Given the description of an element on the screen output the (x, y) to click on. 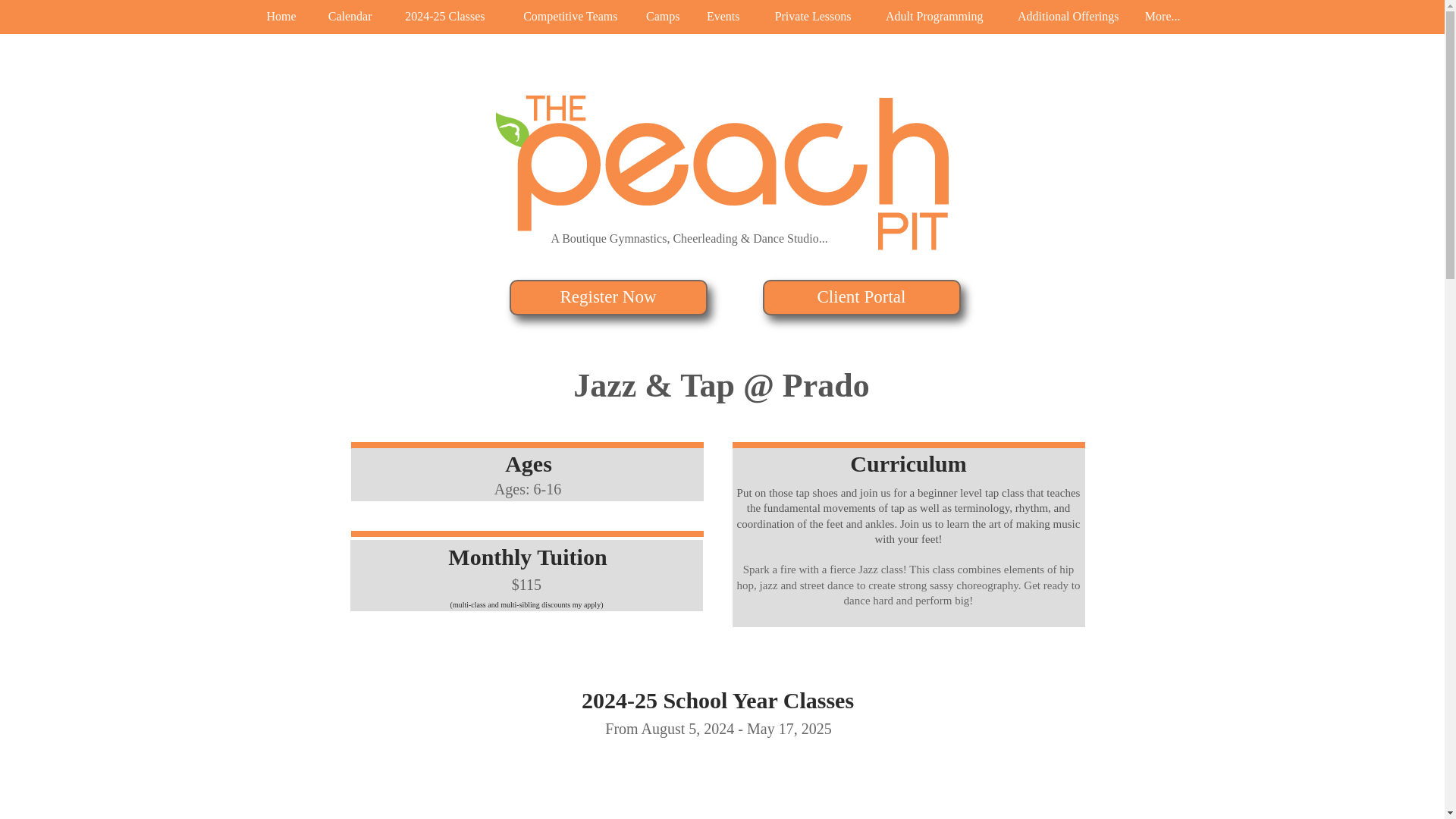
Additional Offerings (1062, 16)
Client Portal (861, 297)
Home (278, 16)
Events (721, 16)
Register Now (608, 297)
